Given the description of an element on the screen output the (x, y) to click on. 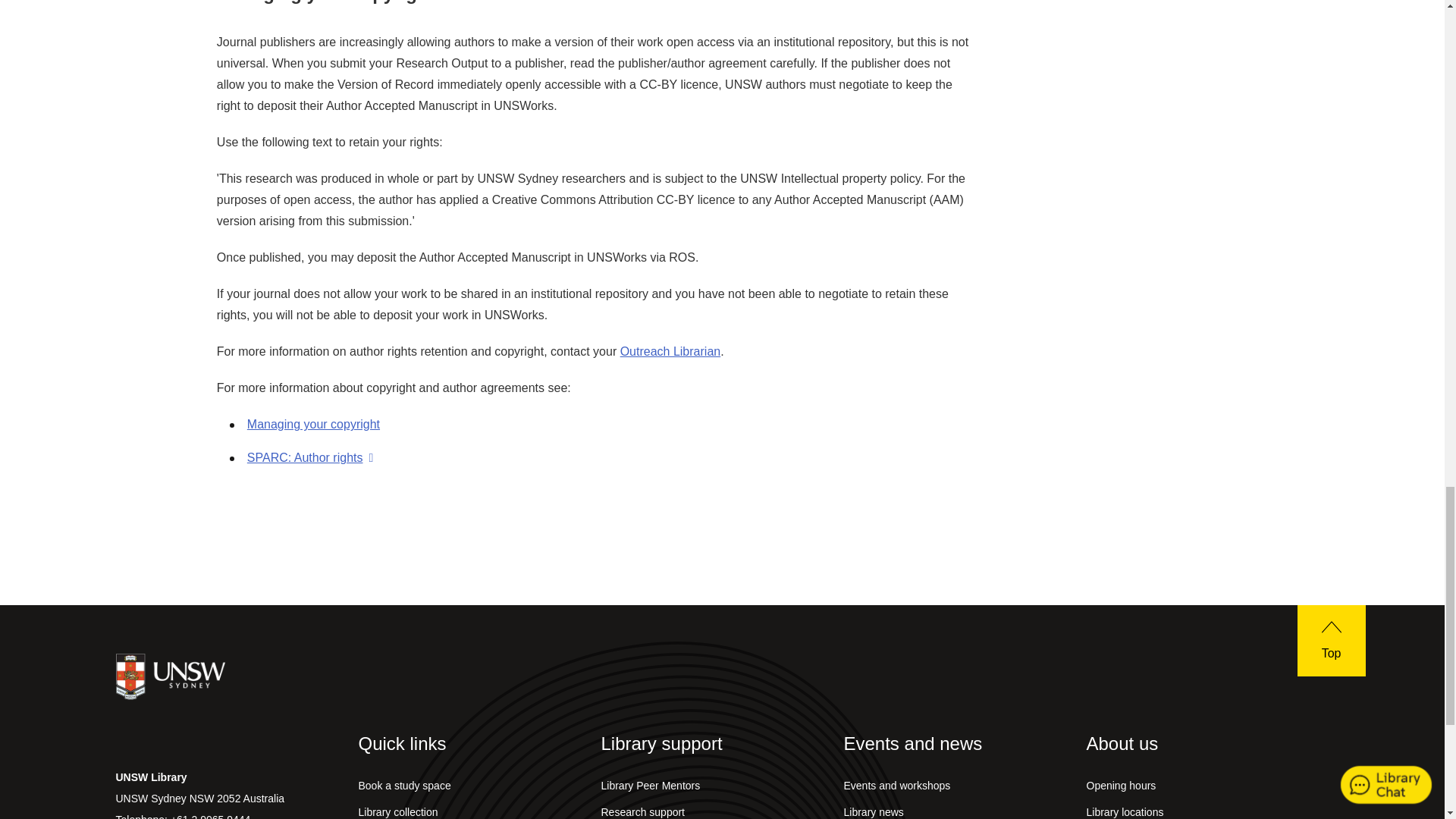
Outreach Librarians (670, 350)
Copyright - Publishing your research (313, 423)
